Given the description of an element on the screen output the (x, y) to click on. 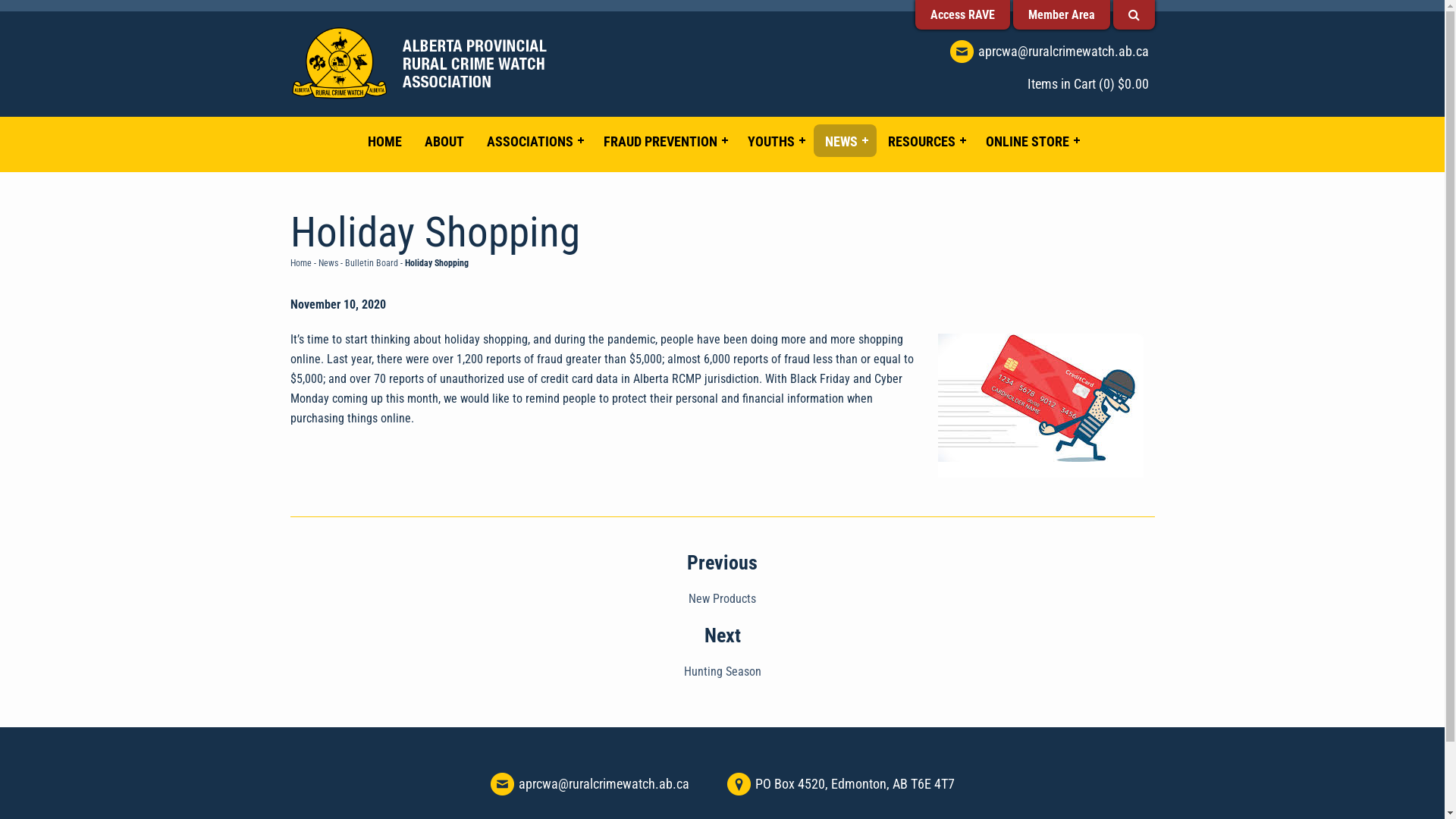
ONLINE STORE Element type: text (1031, 140)
YOUTHS Element type: text (774, 140)
aprcwa@ruralcrimewatch.ab.ca Element type: text (1063, 51)
New Products Element type: text (722, 598)
ABOUT Element type: text (444, 140)
HOME Element type: text (384, 140)
Home Element type: text (299, 262)
aprcwa@ruralcrimewatch.ab.ca Element type: text (603, 783)
Member Area Element type: text (1061, 14)
Hunting Season Element type: text (722, 671)
News Element type: text (328, 262)
Bulletin Board Element type: text (370, 262)
RESOURCES Element type: text (925, 140)
ASSOCIATIONS Element type: text (533, 140)
FRAUD PREVENTION Element type: text (664, 140)
NEWS Element type: text (844, 140)
Access RAVE Element type: text (961, 14)
